Given the description of an element on the screen output the (x, y) to click on. 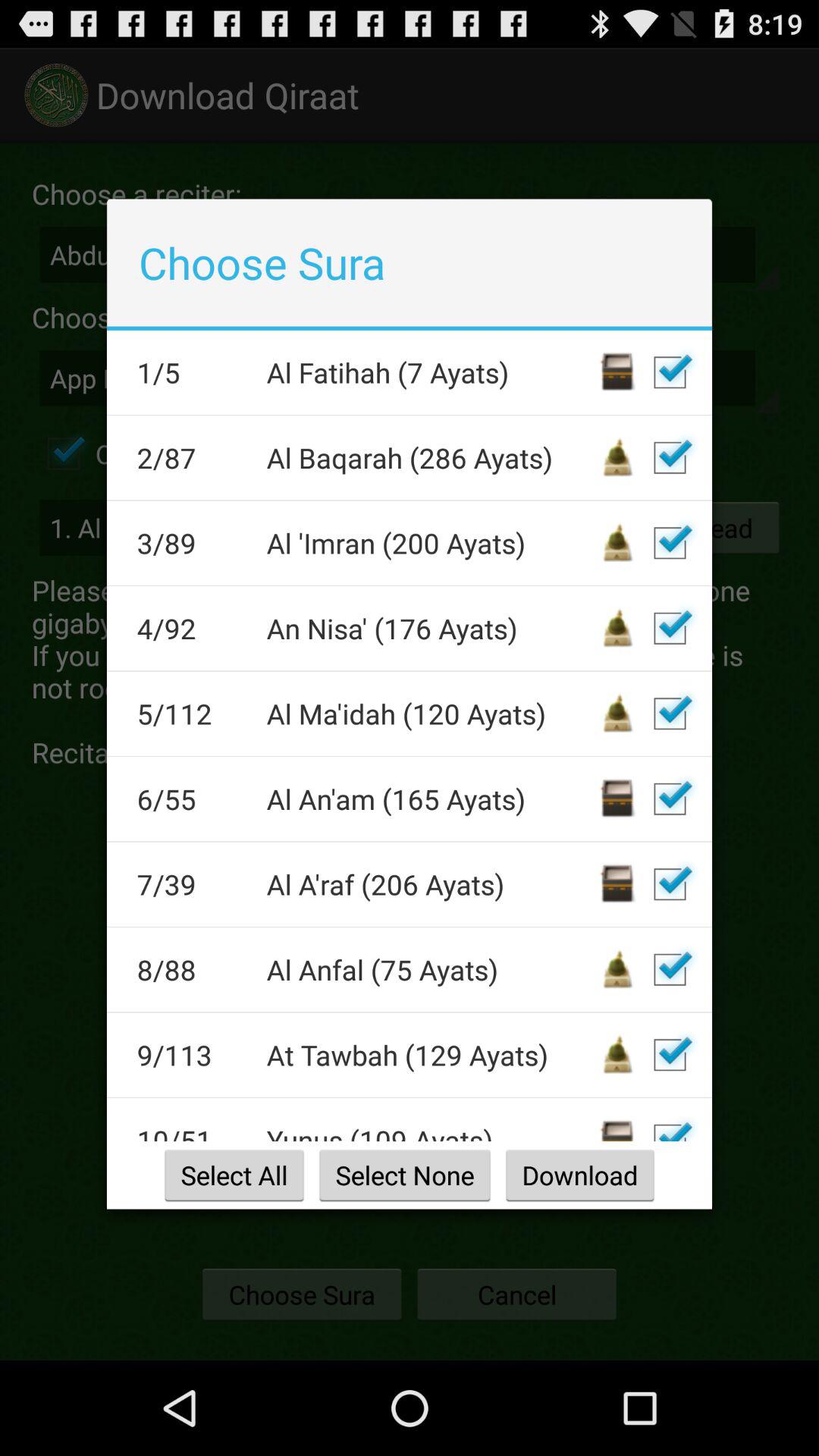
at tawbah checked box (669, 1054)
